Given the description of an element on the screen output the (x, y) to click on. 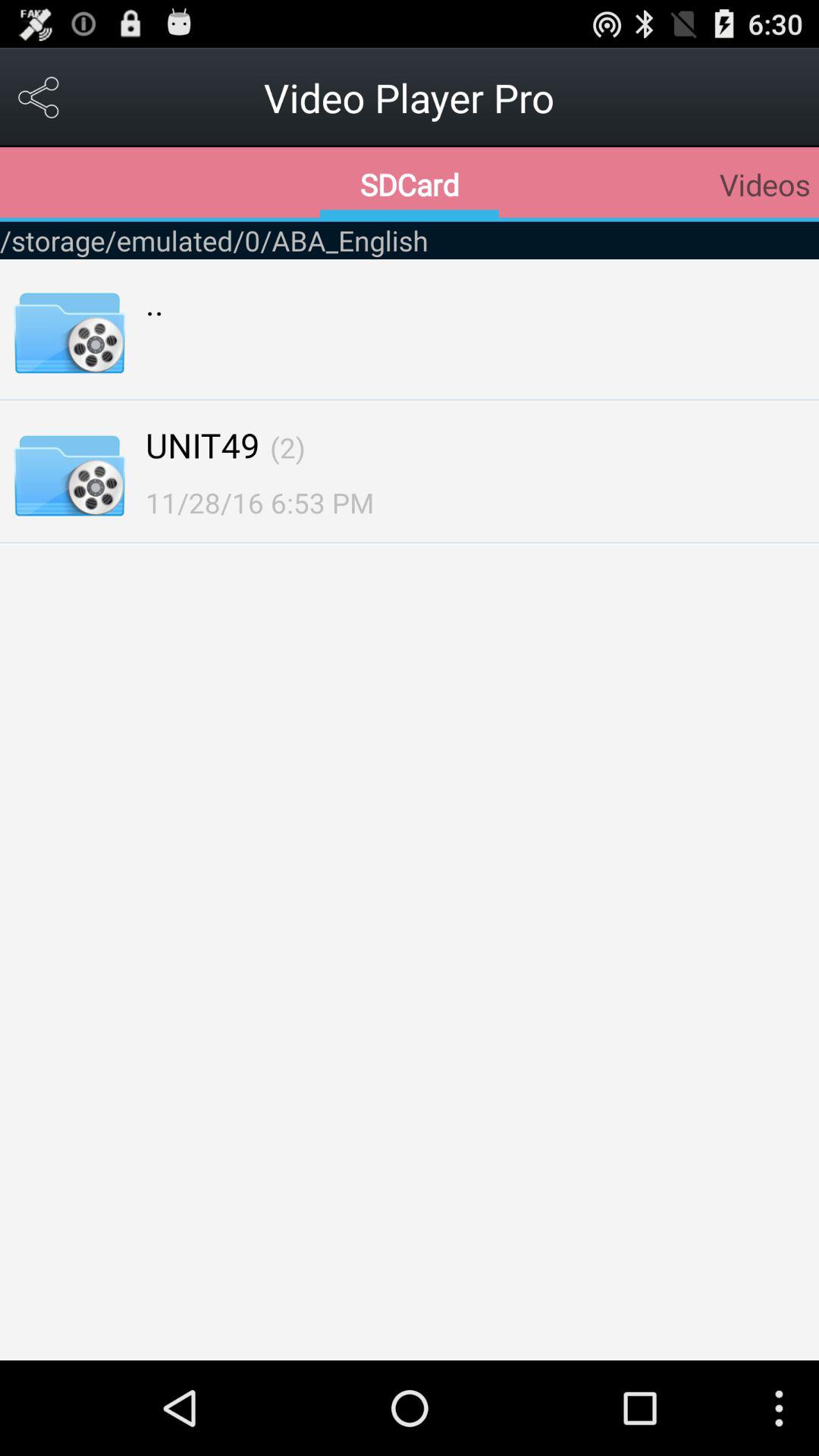
share on social media (39, 97)
